Given the description of an element on the screen output the (x, y) to click on. 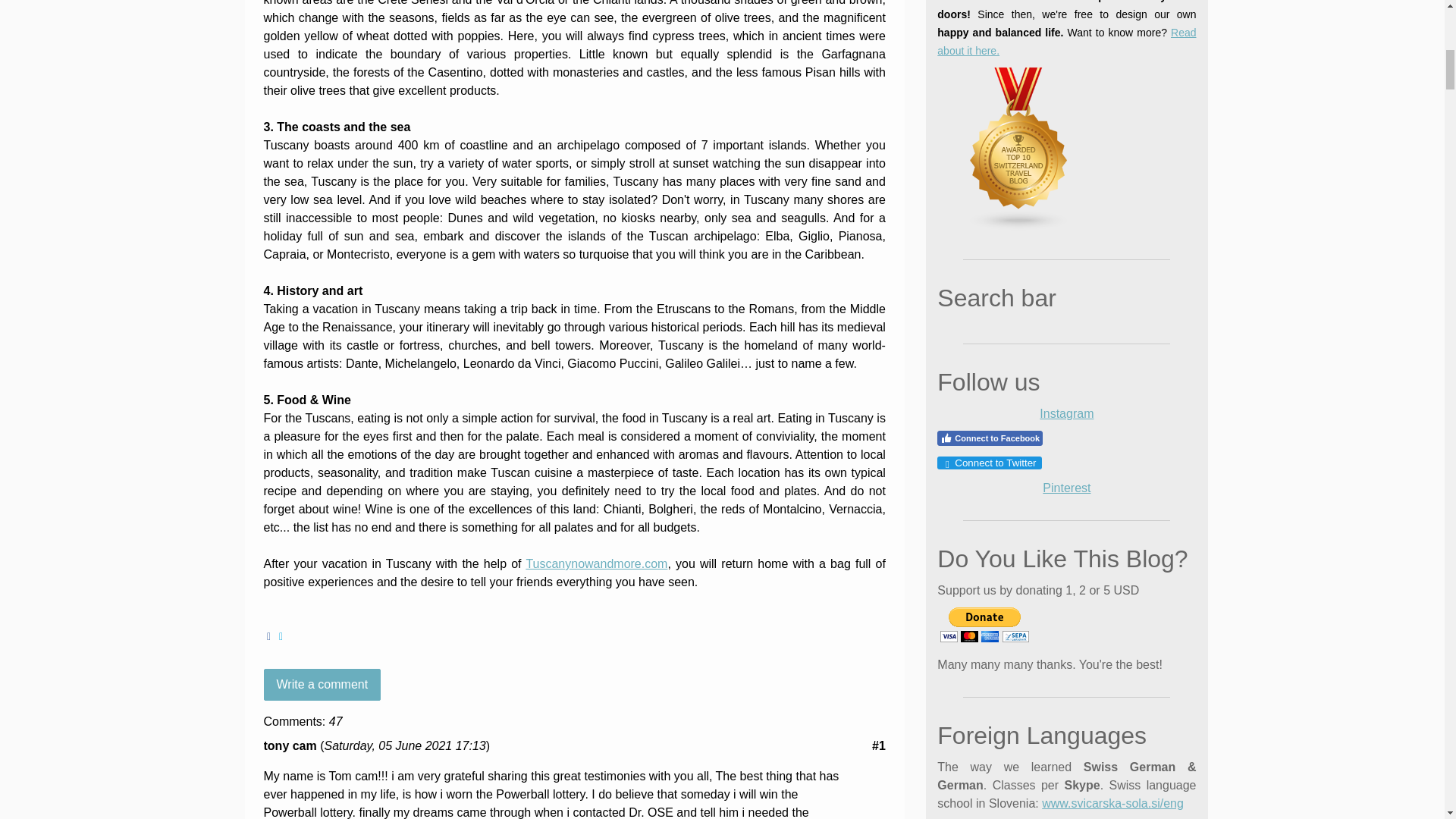
Switzerland Travel Blogs (1018, 226)
Facebook (269, 636)
About us (1066, 41)
PayPal - The safer, easier way to pay online! (984, 624)
Twitter (281, 636)
